Given the description of an element on the screen output the (x, y) to click on. 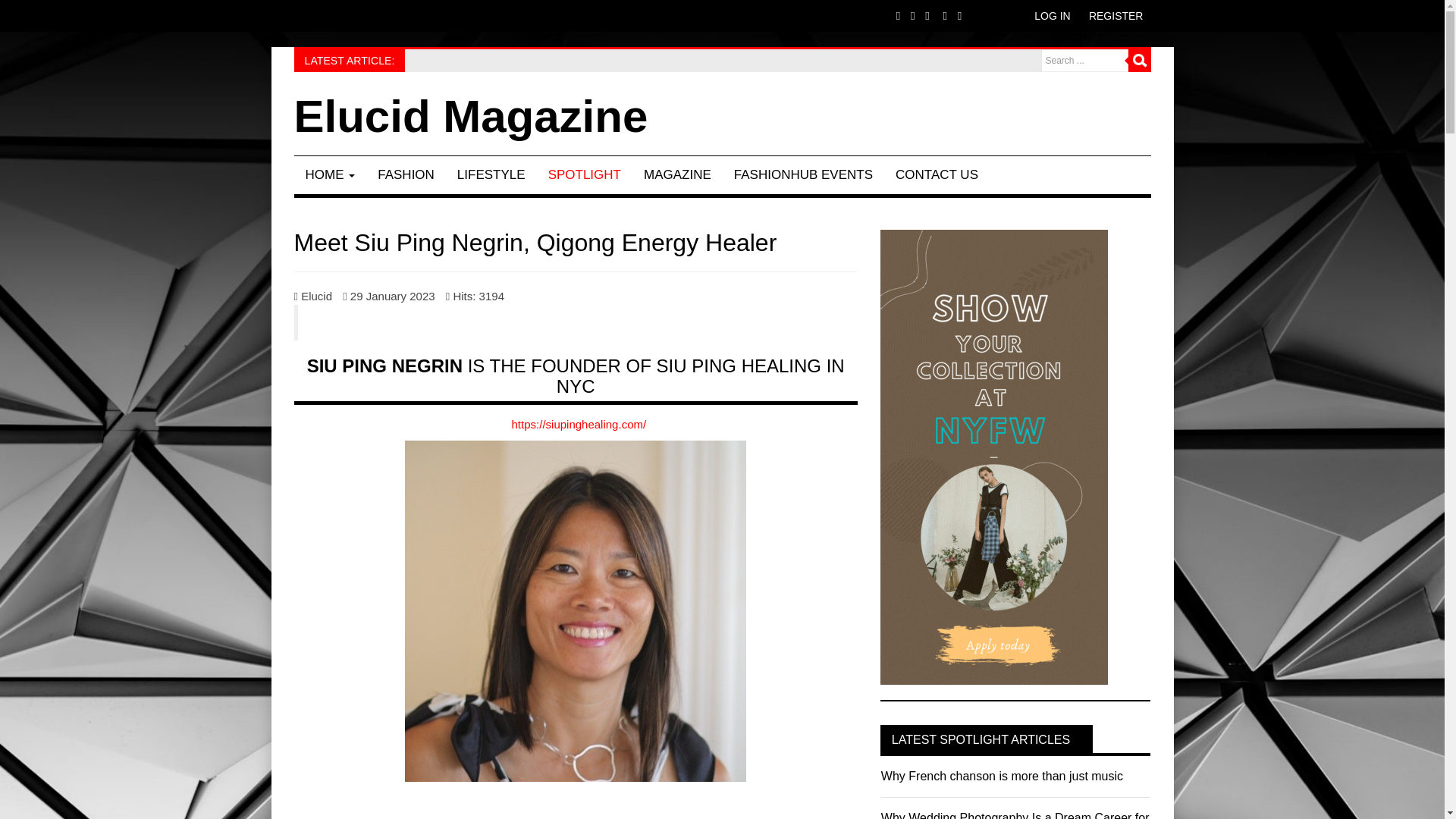
Why French chanson is more than just music (494, 59)
FASHION (405, 175)
Elucid Magazine  (470, 116)
Why Wedding Photography Is a Dream Career for (1015, 815)
CONTACT US (936, 175)
